Given the description of an element on the screen output the (x, y) to click on. 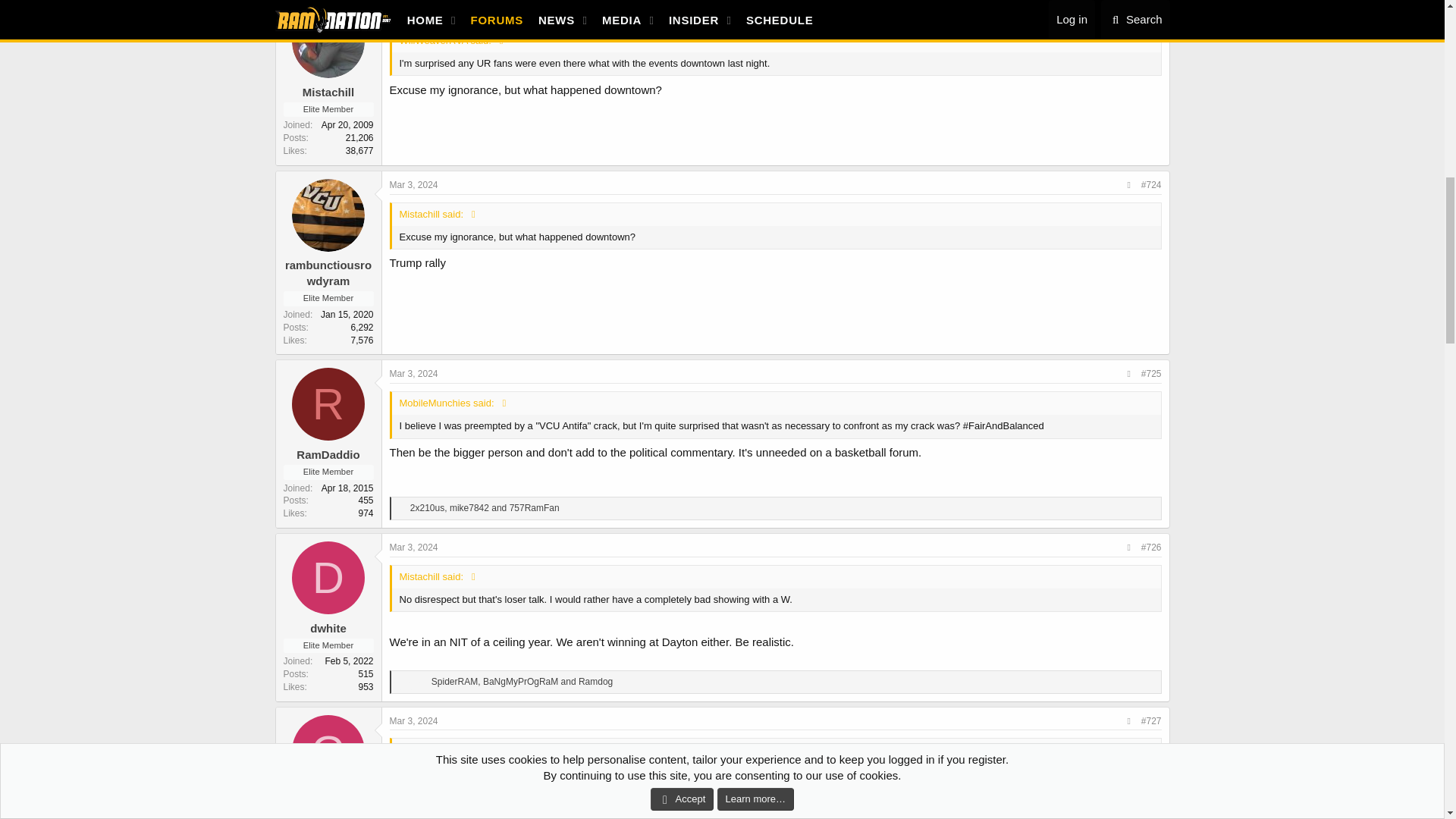
Like (401, 682)
Mar 3, 2024 at 6:52 PM (414, 547)
Mar 3, 2024 at 4:18 PM (414, 10)
Angry (422, 682)
Wow (412, 682)
Mar 3, 2024 at 4:25 PM (414, 184)
Mar 3, 2024 at 6:26 PM (414, 373)
Like (401, 508)
